Given the description of an element on the screen output the (x, y) to click on. 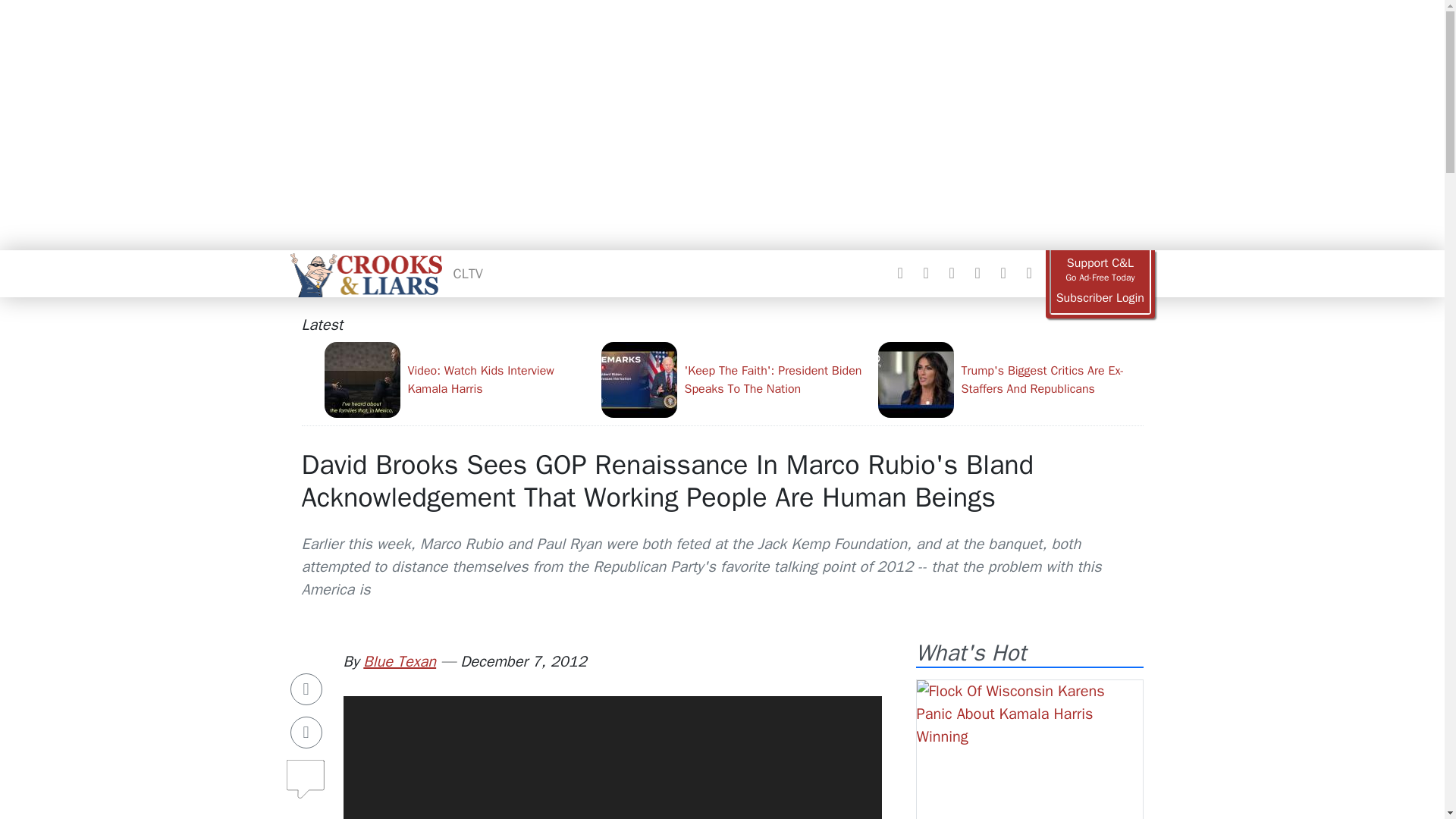
'Keep The Faith': President Biden Speaks To The Nation (732, 379)
Join in the discussion (306, 782)
Go ad free today! (1099, 270)
Search (1029, 273)
'Keep The Faith': President Biden Speaks To The Nation (732, 379)
CLTV (467, 273)
Video: Watch Kids Interview Kamala Harris (456, 379)
Login to your ad free account (1099, 298)
Video: Watch Kids Interview Kamala Harris (456, 379)
Blue Texan (398, 660)
Trump's Biggest Critics Are Ex-Staffers And Republicans (1009, 379)
Trump's Biggest Critics Are Ex-Staffers And Republicans (1009, 379)
Share on Facebook (306, 689)
Share on Twitter (306, 732)
